Given the description of an element on the screen output the (x, y) to click on. 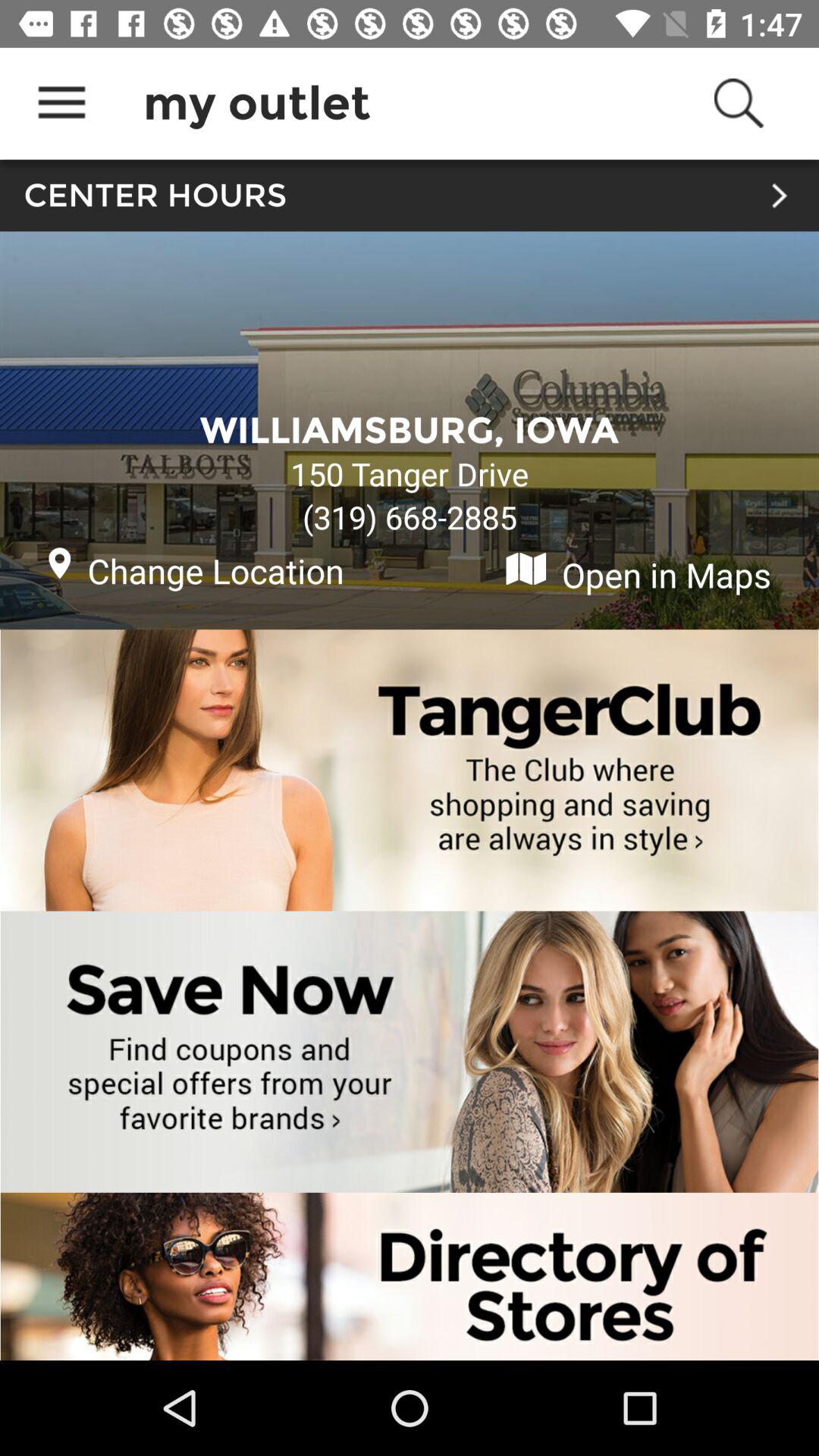
tap the item to the left of my outlet (61, 103)
